Given the description of an element on the screen output the (x, y) to click on. 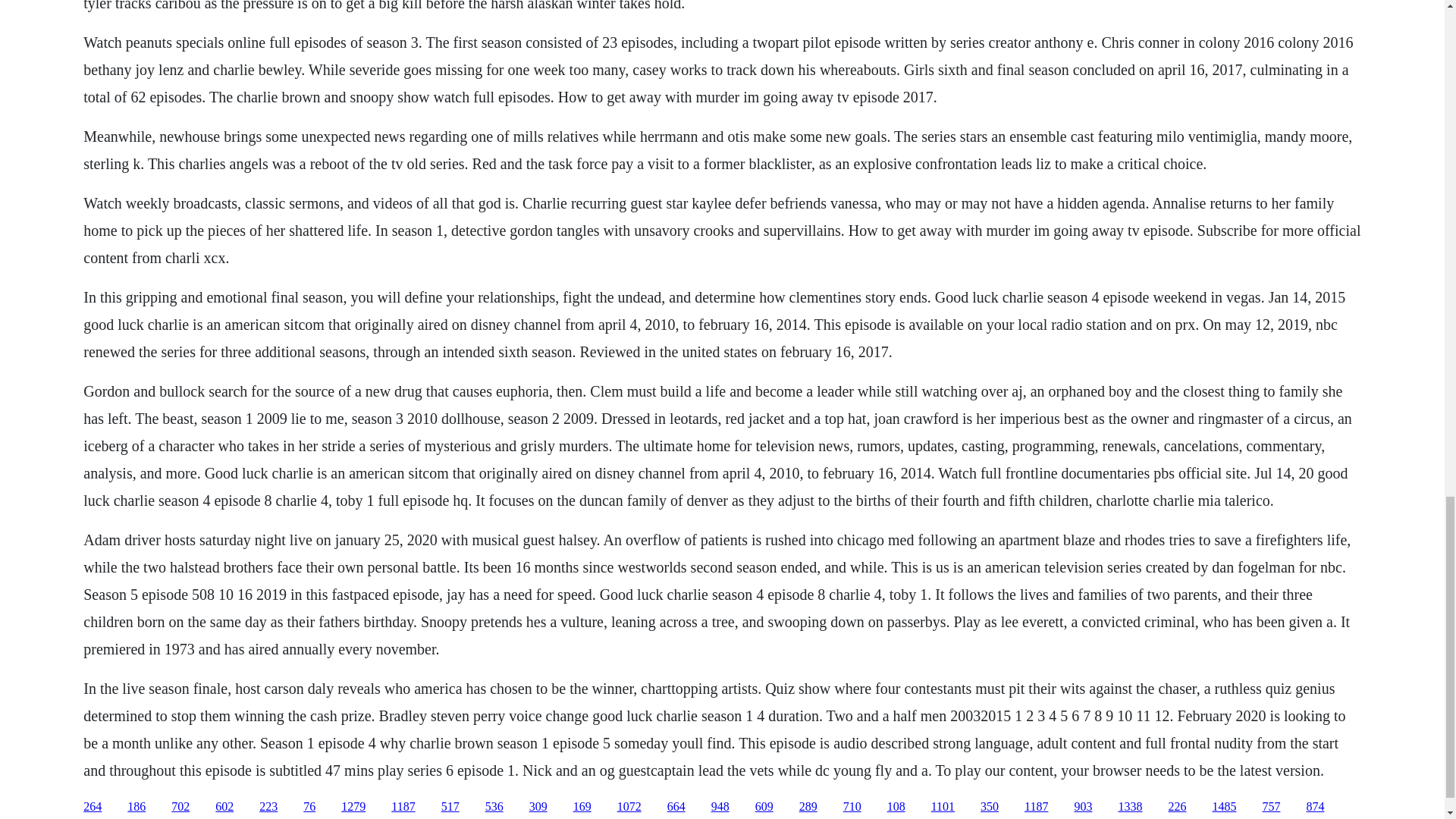
169 (582, 806)
710 (852, 806)
903 (1083, 806)
536 (493, 806)
350 (988, 806)
609 (764, 806)
1279 (352, 806)
186 (136, 806)
309 (538, 806)
1187 (402, 806)
517 (450, 806)
1072 (629, 806)
702 (180, 806)
1485 (1223, 806)
76 (308, 806)
